Given the description of an element on the screen output the (x, y) to click on. 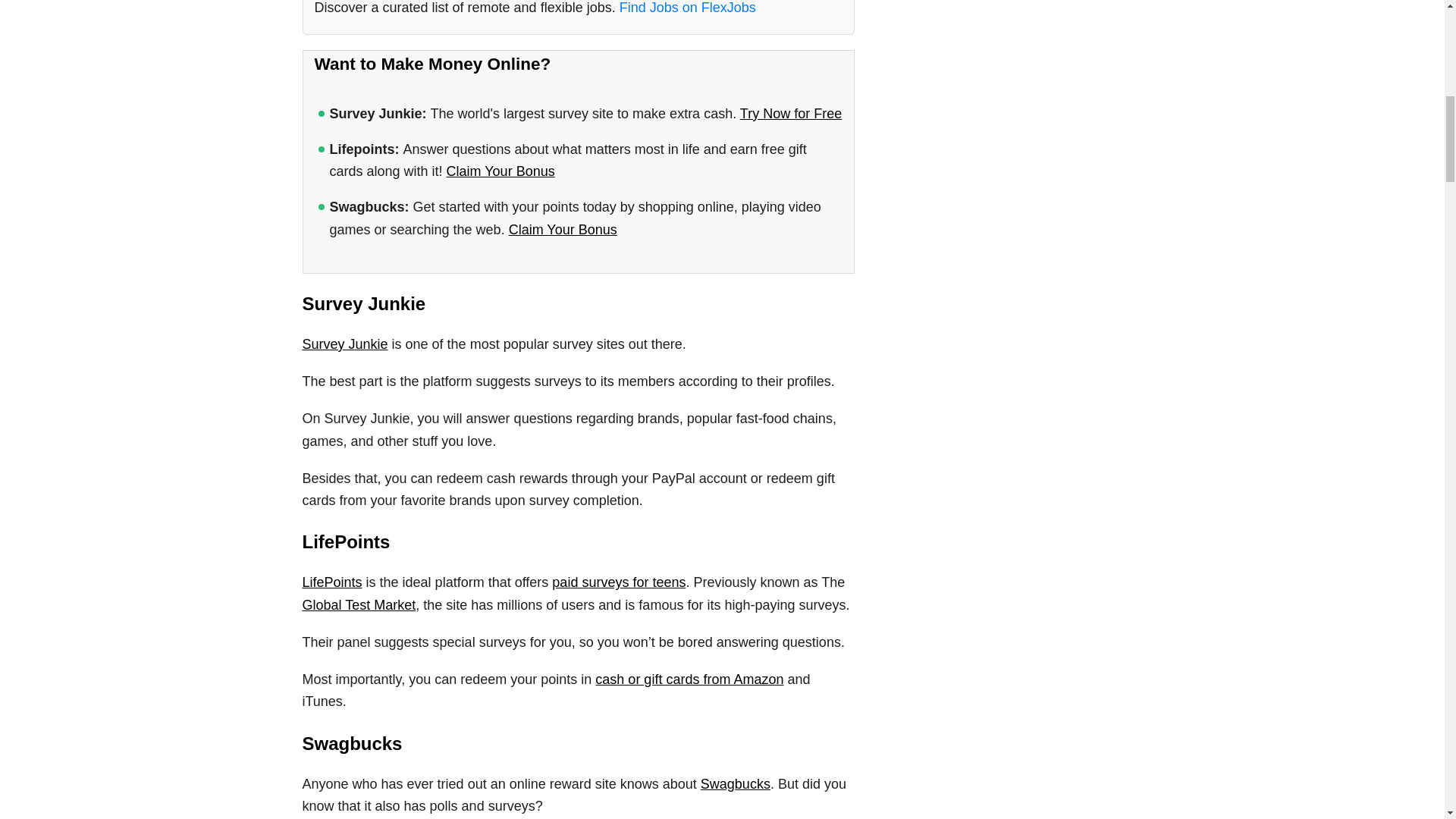
Claim Your Bonus (500, 171)
Survey Junkie (344, 344)
paid surveys for teens (618, 581)
LifePoints (331, 581)
Try Now for Free (790, 113)
Claim Your Bonus (562, 229)
Find Jobs on FlexJobs (687, 7)
